Given the description of an element on the screen output the (x, y) to click on. 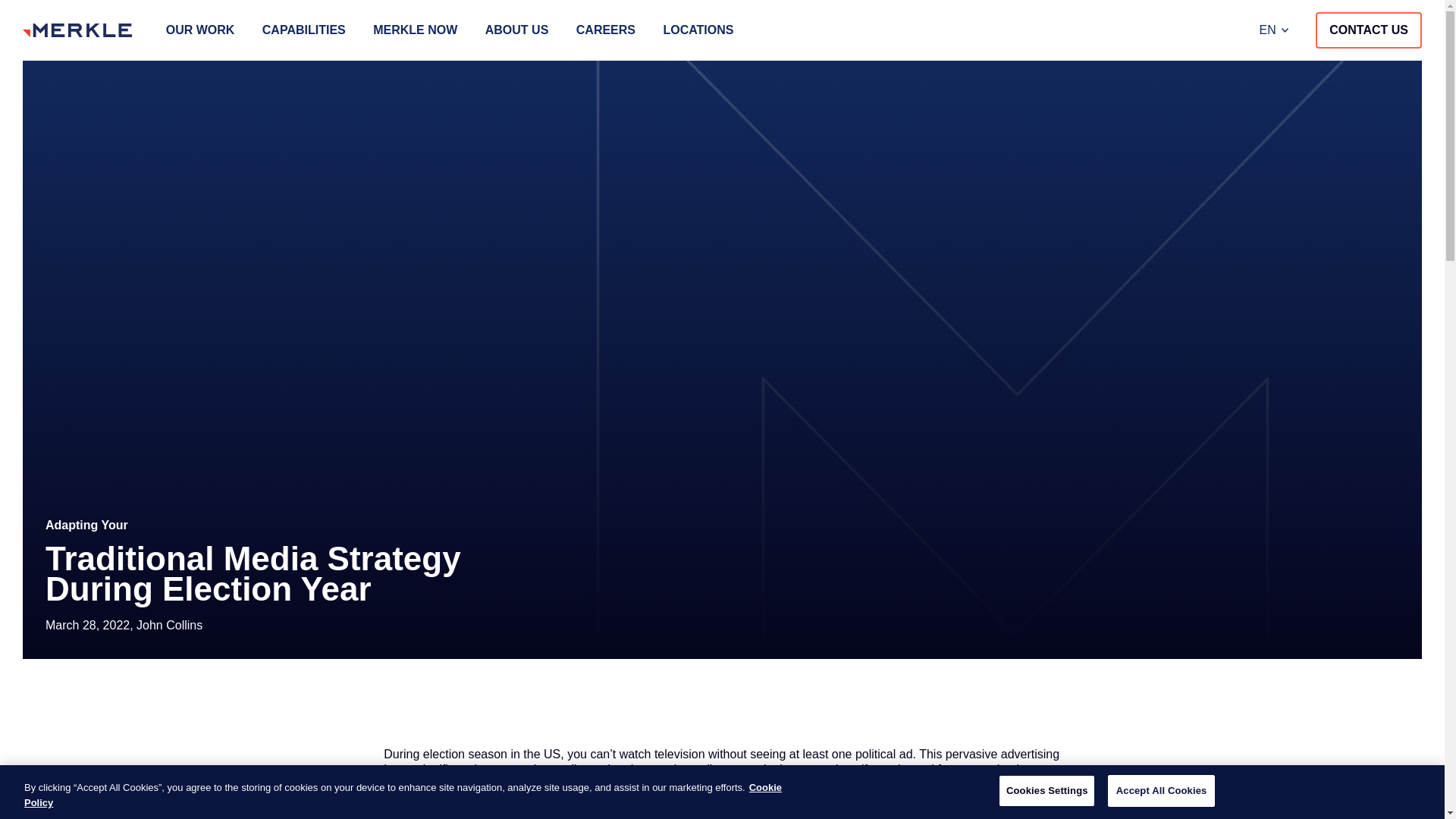
LOCATIONS (697, 30)
ABOUT US (516, 30)
merkle-full-logo-lt.svg (77, 29)
OUR WORK (199, 30)
CAPABILITIES (304, 30)
CAREERS (605, 30)
MERKLE NOW (414, 30)
